Given the description of an element on the screen output the (x, y) to click on. 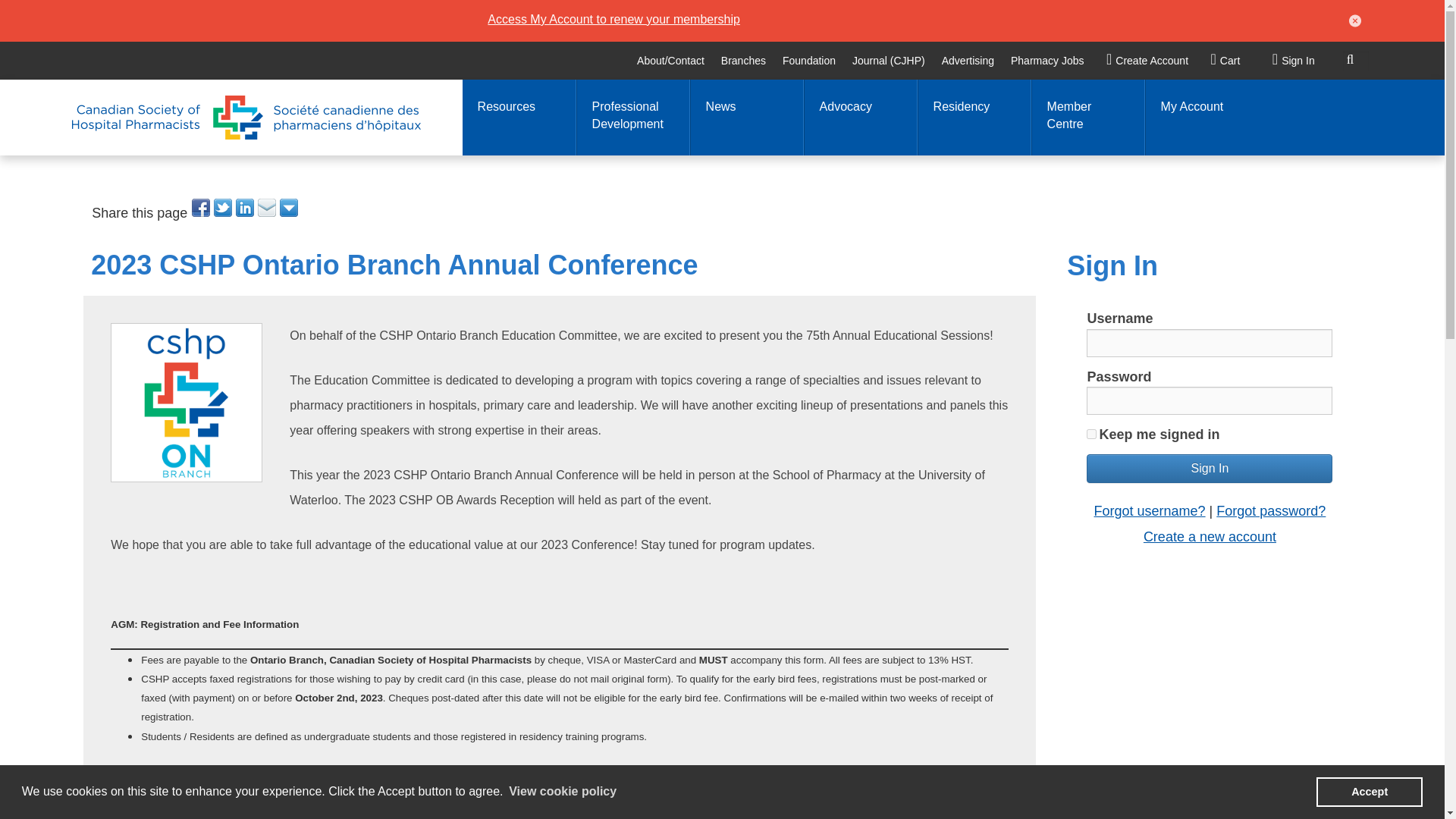
Dismiss (1350, 20)
View cookie policy (562, 791)
Sign In (1293, 60)
Pharmacy Jobs (1047, 60)
Advertising (967, 60)
Cart (1222, 60)
Keyword Search (1355, 60)
Tweet this (224, 208)
Home (245, 117)
Tell a friend (267, 208)
Resources (519, 117)
Show more (289, 208)
Share on Facebook (202, 208)
Accept (1369, 791)
Foundation (808, 60)
